Given the description of an element on the screen output the (x, y) to click on. 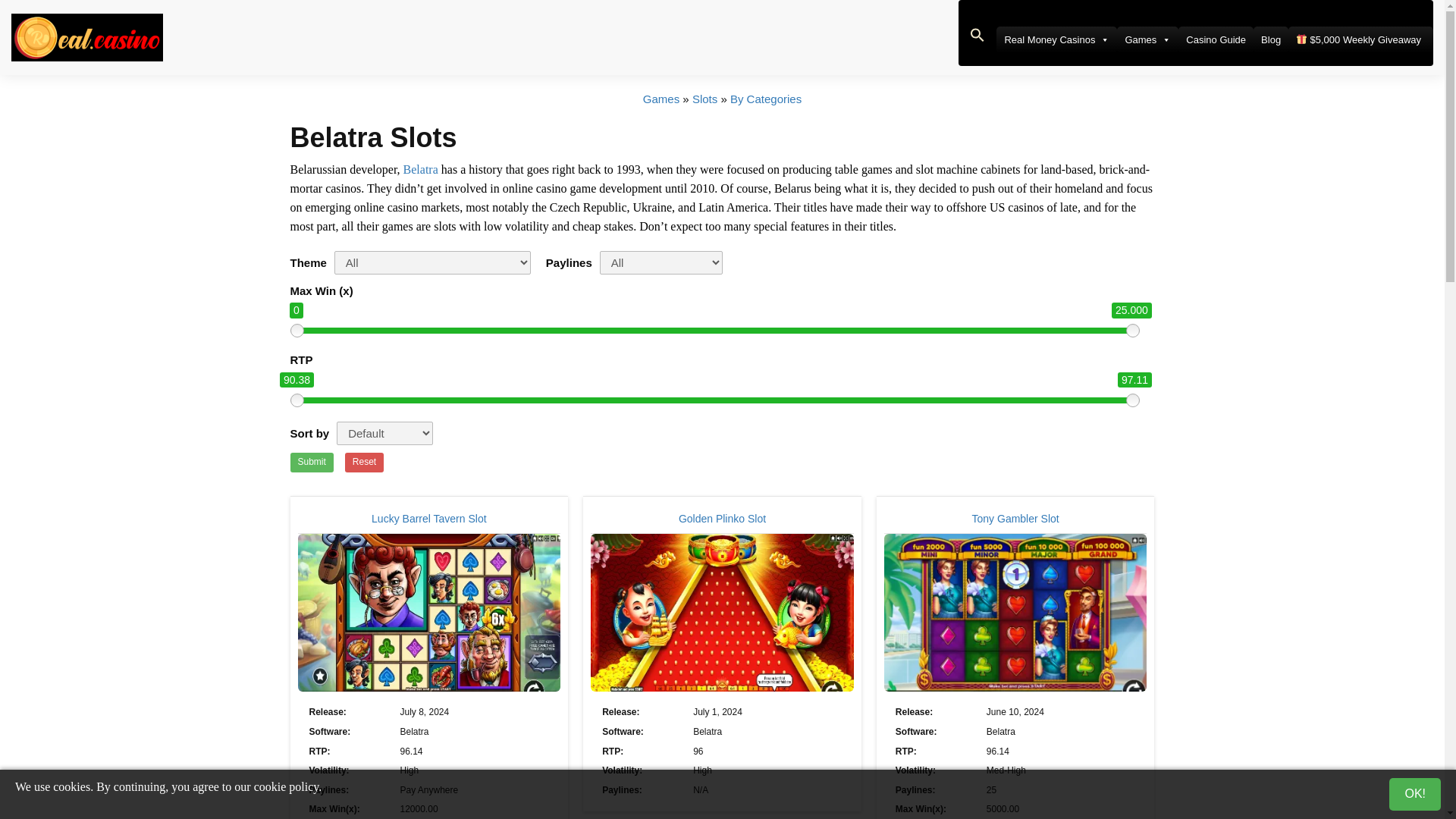
Games (1146, 39)
Online Casino Games (661, 98)
Real Money Casinos (1055, 39)
Online Slots (705, 98)
Online Slots by Categories (766, 98)
